Given the description of an element on the screen output the (x, y) to click on. 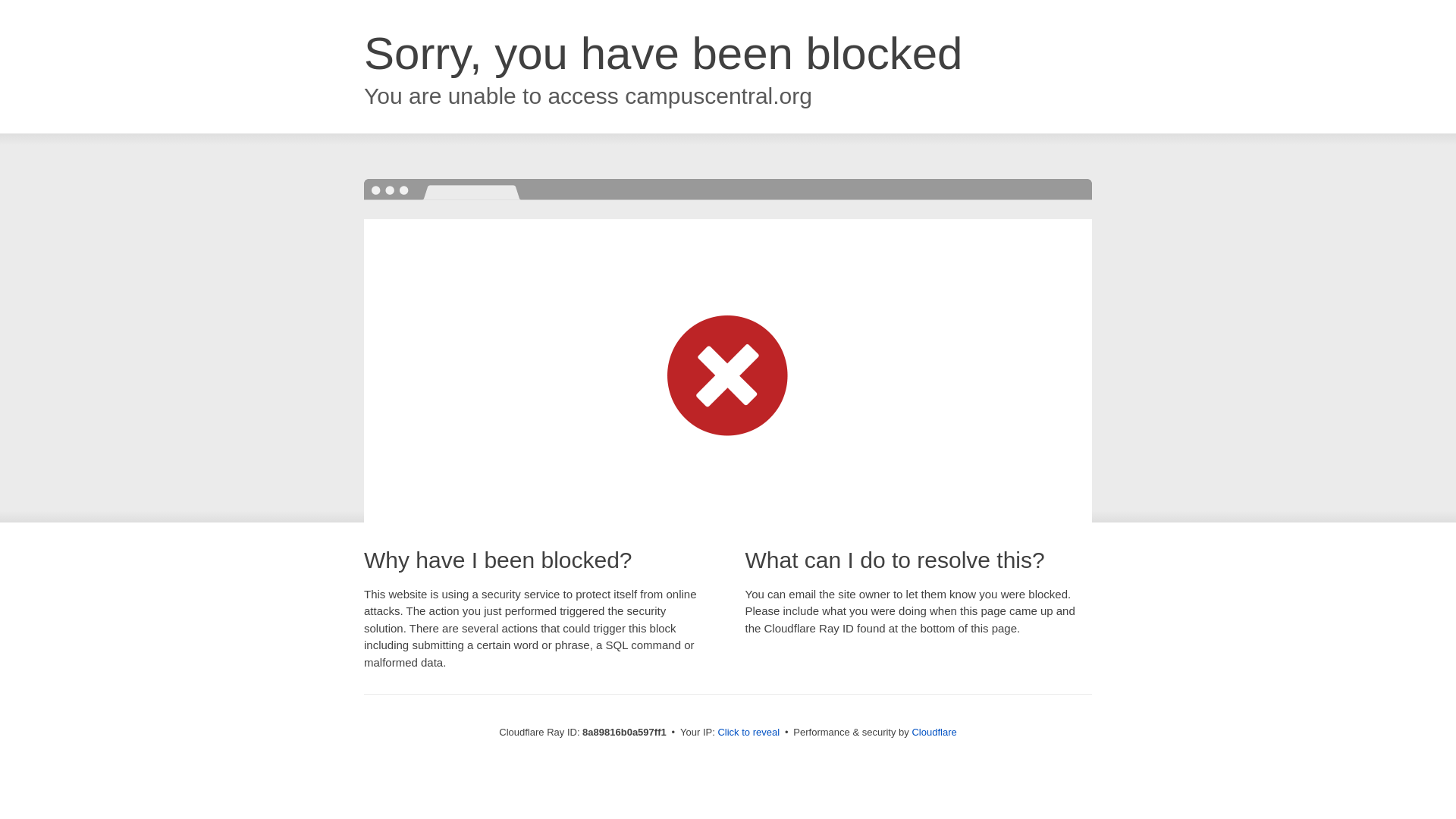
Cloudflare (933, 731)
Click to reveal (747, 732)
